Given the description of an element on the screen output the (x, y) to click on. 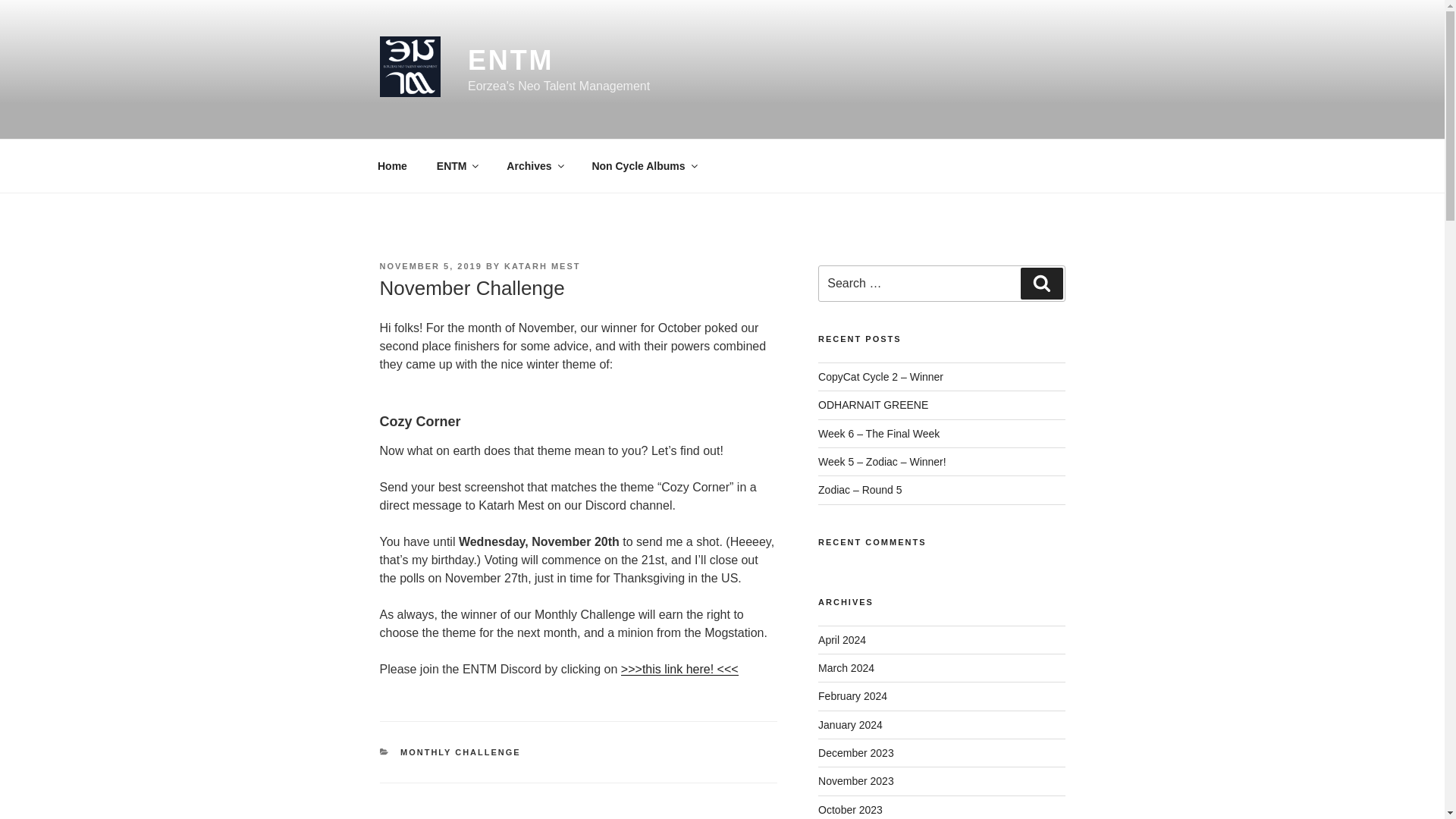
ENTM (510, 60)
Home (392, 165)
Archives (534, 165)
ENTM (456, 165)
